Given the description of an element on the screen output the (x, y) to click on. 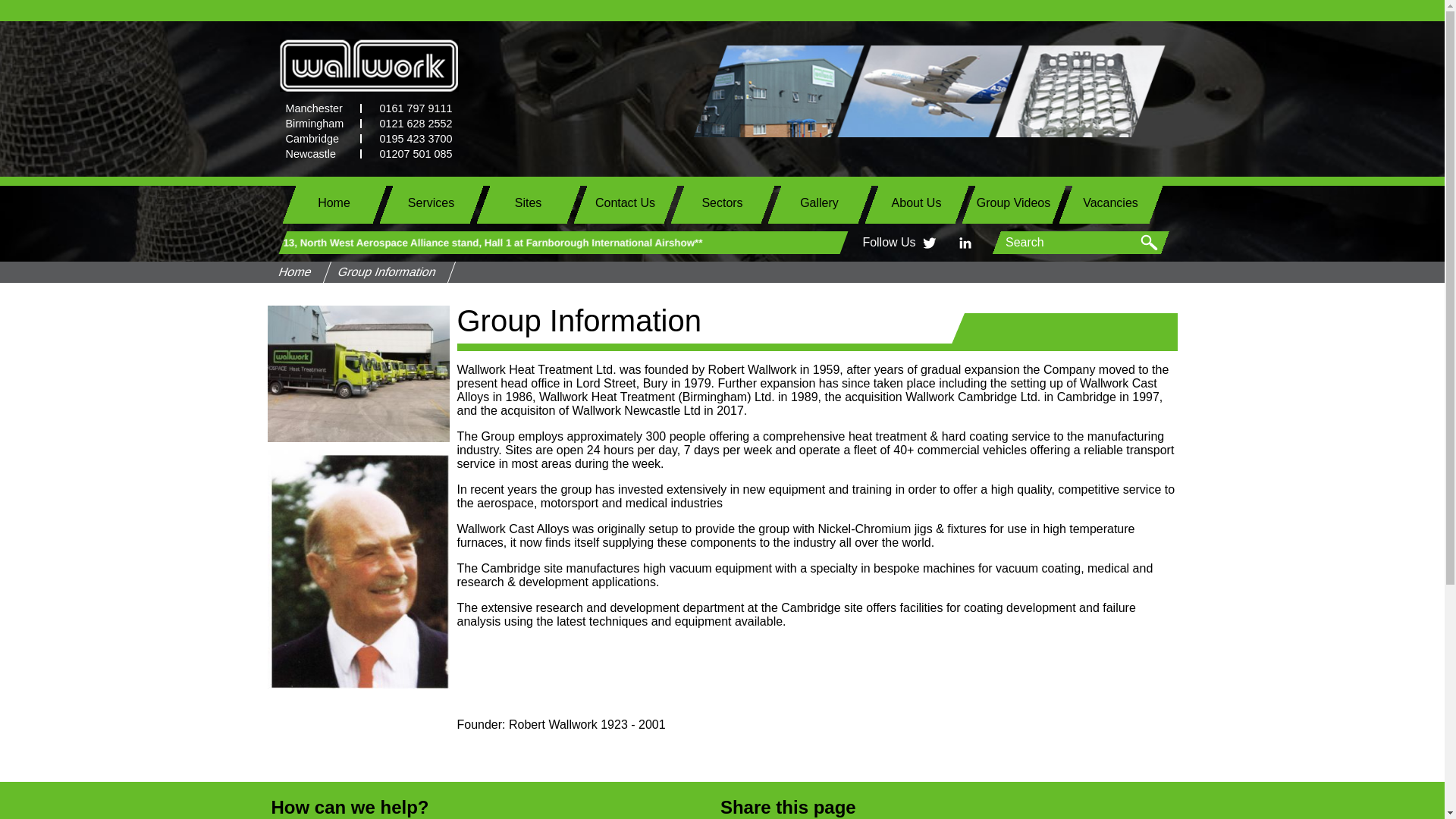
Home (333, 202)
Newcastle (319, 153)
Birmingham (319, 122)
Follow Us (889, 242)
Cambridge (319, 138)
Manchester (319, 108)
01207 501 085 (409, 153)
0121 628 2552 (409, 122)
0161 797 9111 (409, 108)
0195 423 3700 (409, 138)
Services (430, 202)
Sites (527, 202)
Contact Us (625, 202)
